Given the description of an element on the screen output the (x, y) to click on. 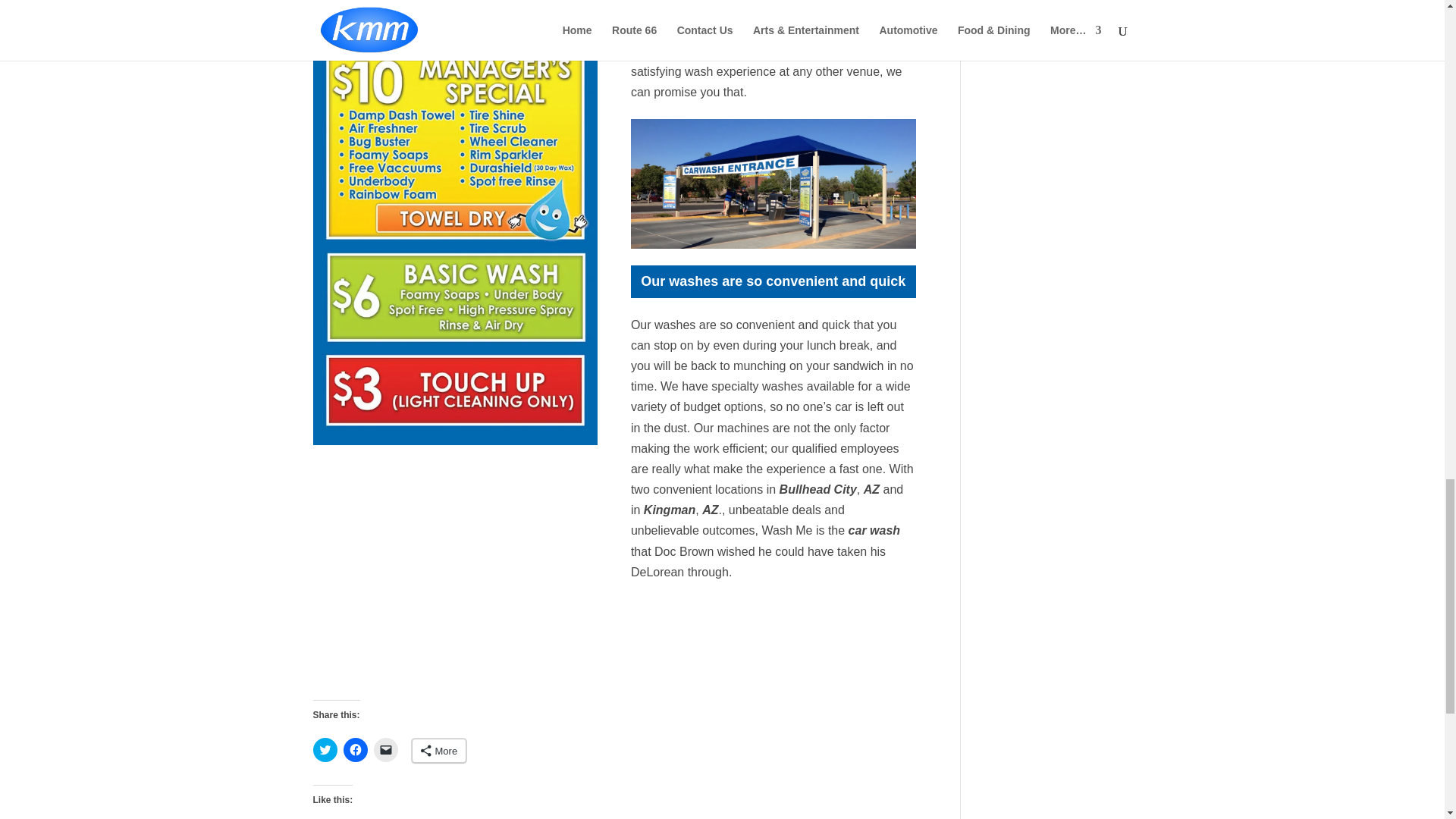
Click to email a link to a friend (384, 749)
Car Wash, Kingman AZ, Bullhead City AZ (772, 183)
Click to share on Facebook (354, 749)
More (437, 750)
Click to share on Twitter (324, 749)
